Given the description of an element on the screen output the (x, y) to click on. 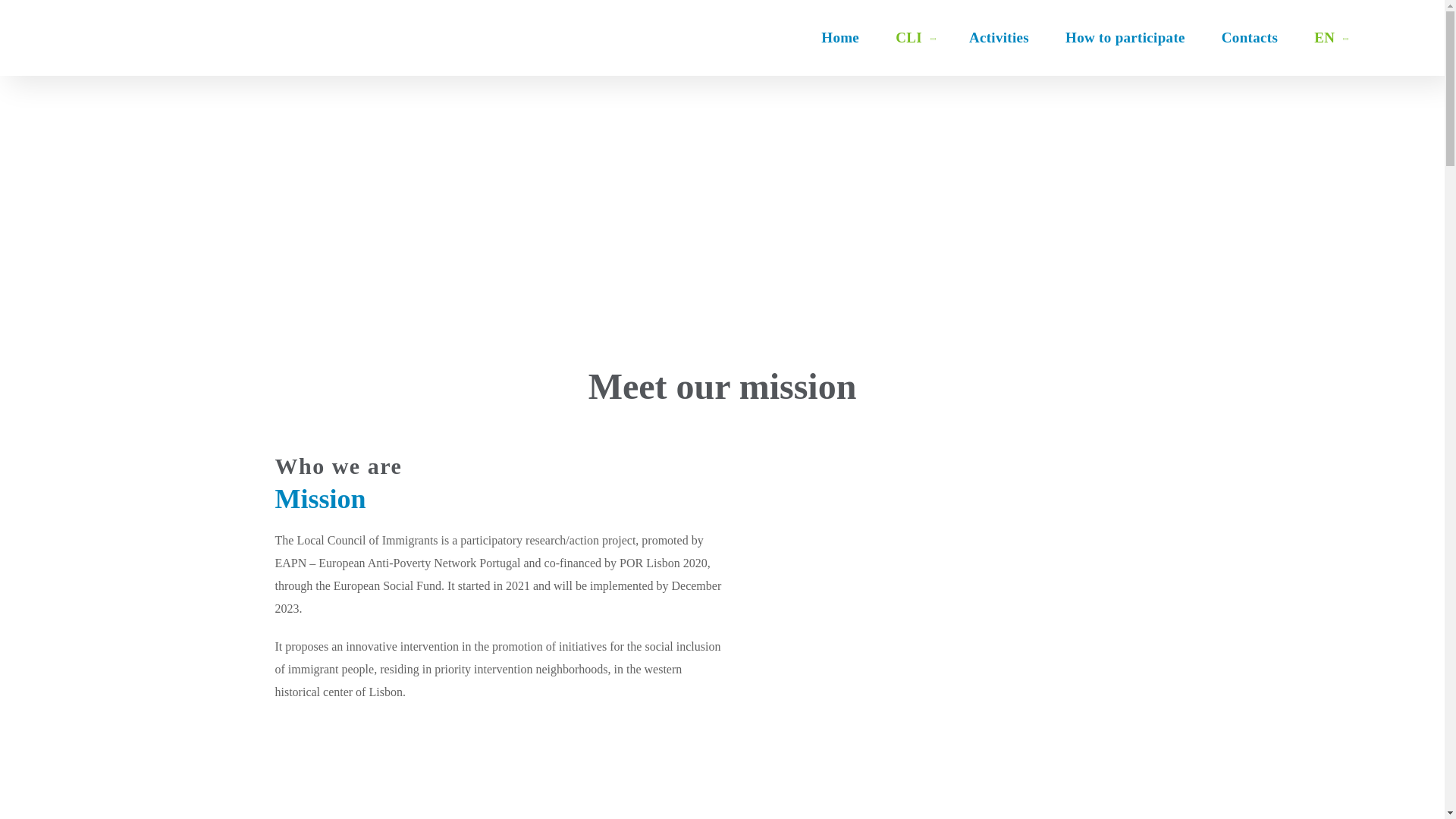
CLI (913, 37)
Home (840, 37)
EN (1328, 37)
Contacts (1249, 37)
Activities (998, 37)
How to participate (1125, 37)
